Given the description of an element on the screen output the (x, y) to click on. 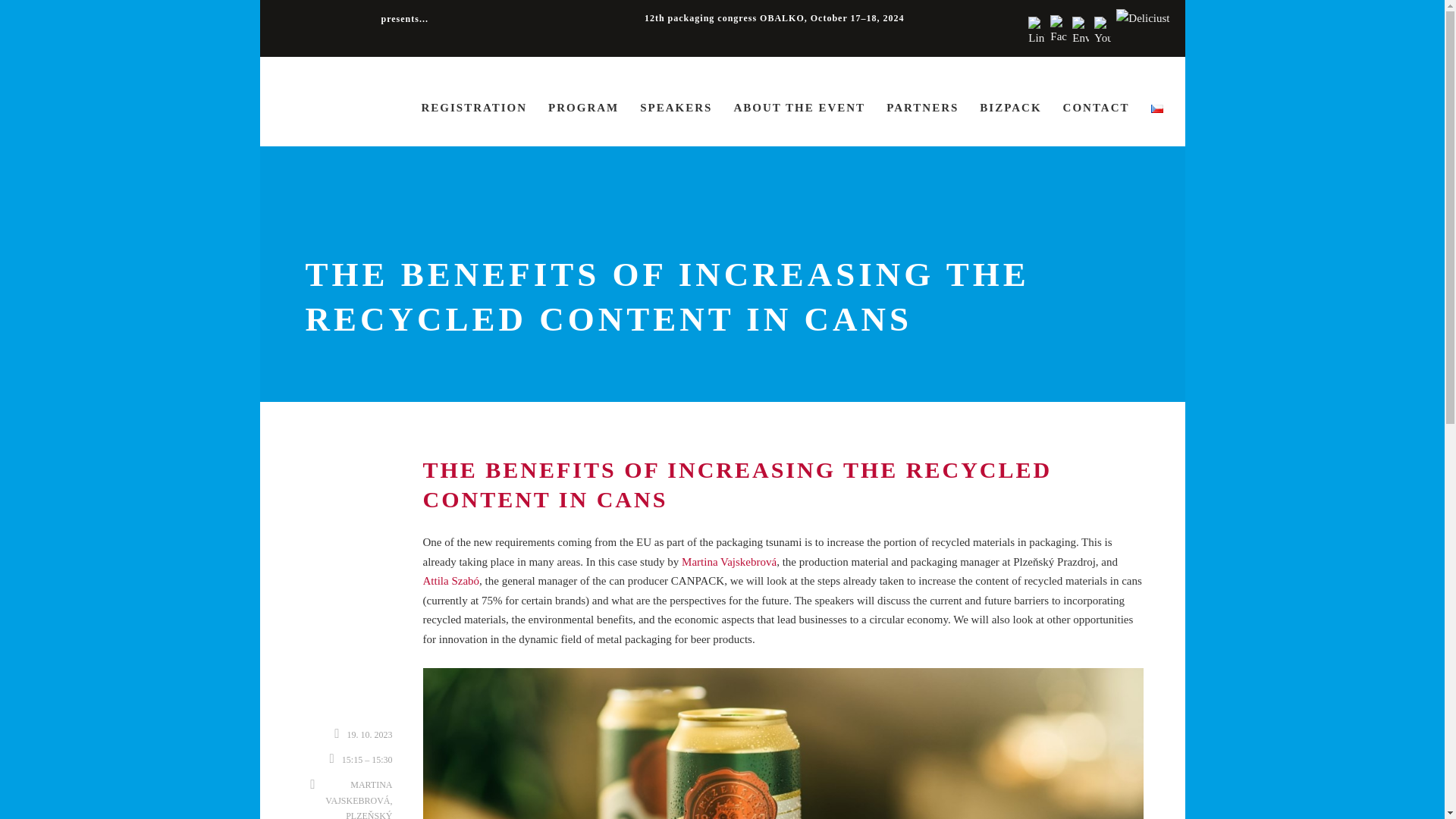
REGISTRATION (474, 122)
PROGRAM (583, 122)
SPEAKERS (675, 122)
ABOUT THE EVENT (798, 122)
